Given the description of an element on the screen output the (x, y) to click on. 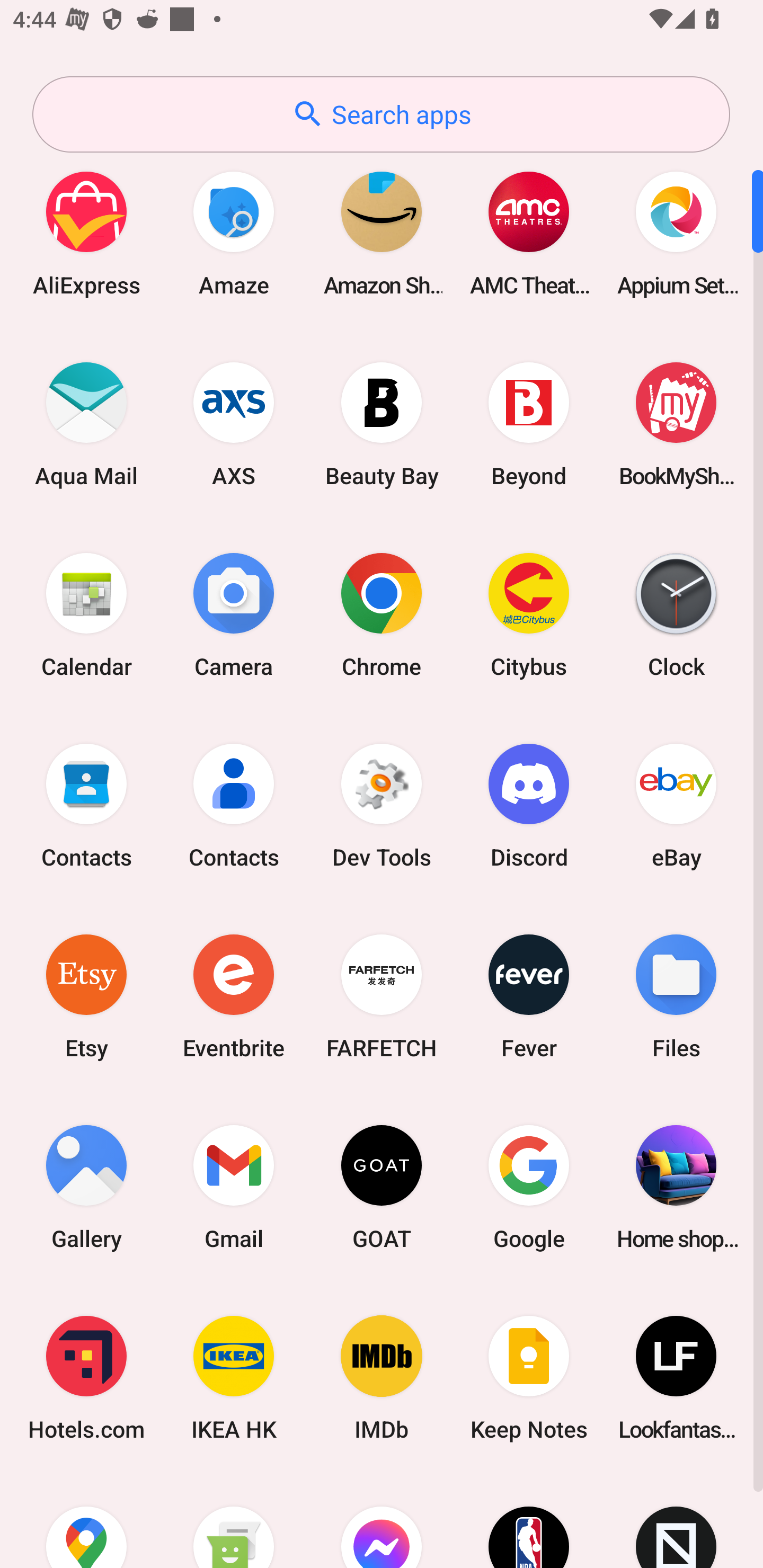
  Search apps (381, 114)
AliExpress (86, 233)
Amaze (233, 233)
Amazon Shopping (381, 233)
AMC Theatres (528, 233)
Appium Settings (676, 233)
Aqua Mail (86, 424)
AXS (233, 424)
Beauty Bay (381, 424)
Beyond (528, 424)
BookMyShow (676, 424)
Calendar (86, 614)
Camera (233, 614)
Chrome (381, 614)
Citybus (528, 614)
Clock (676, 614)
Contacts (86, 805)
Contacts (233, 805)
Dev Tools (381, 805)
Discord (528, 805)
eBay (676, 805)
Etsy (86, 996)
Eventbrite (233, 996)
FARFETCH (381, 996)
Fever (528, 996)
Files (676, 996)
Gallery (86, 1186)
Gmail (233, 1186)
GOAT (381, 1186)
Google (528, 1186)
Home shopping (676, 1186)
Hotels.com (86, 1377)
IKEA HK (233, 1377)
IMDb (381, 1377)
Keep Notes (528, 1377)
Lookfantastic (676, 1377)
